Given the description of an element on the screen output the (x, y) to click on. 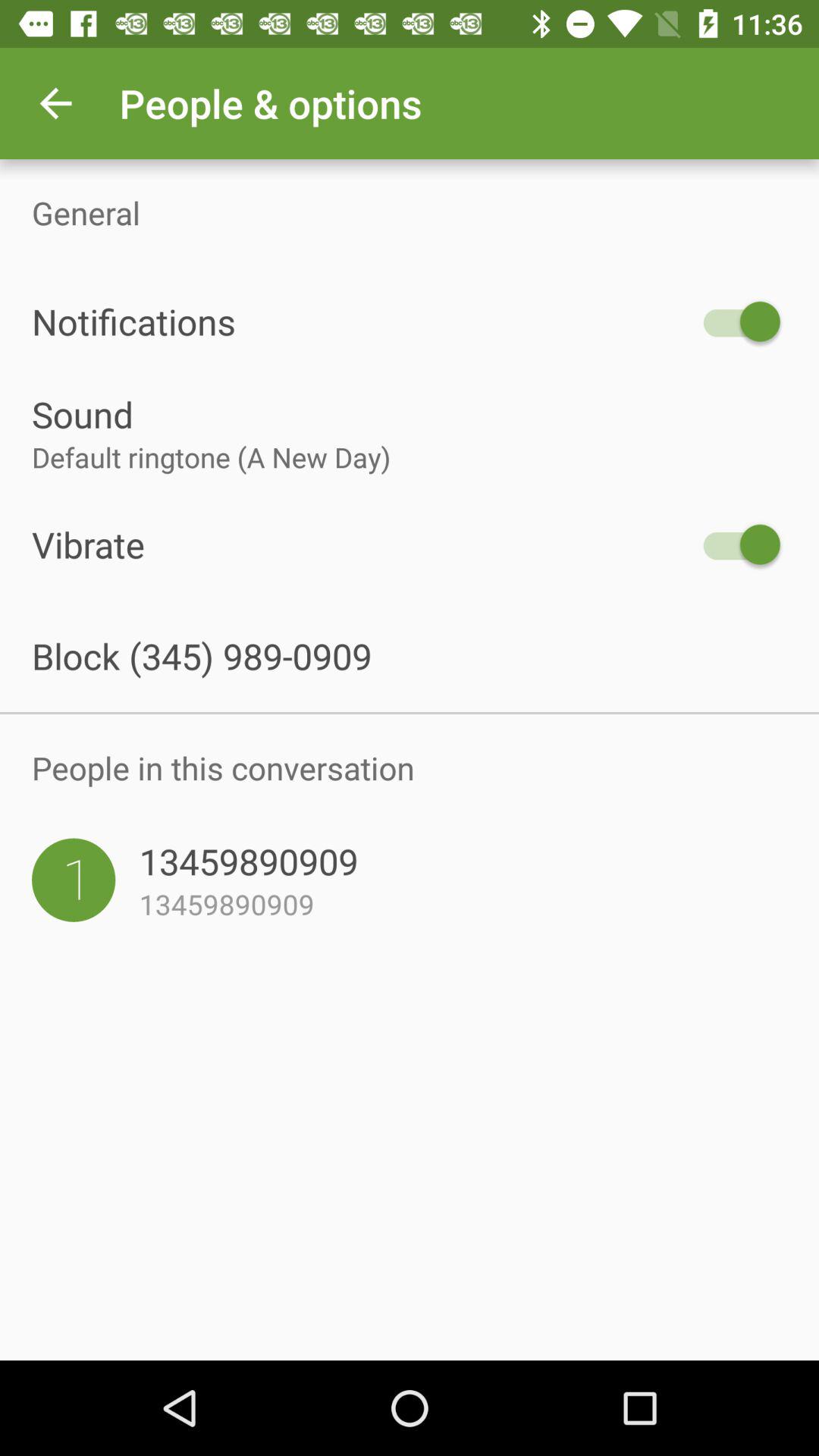
swipe until the notifications icon (361, 321)
